Given the description of an element on the screen output the (x, y) to click on. 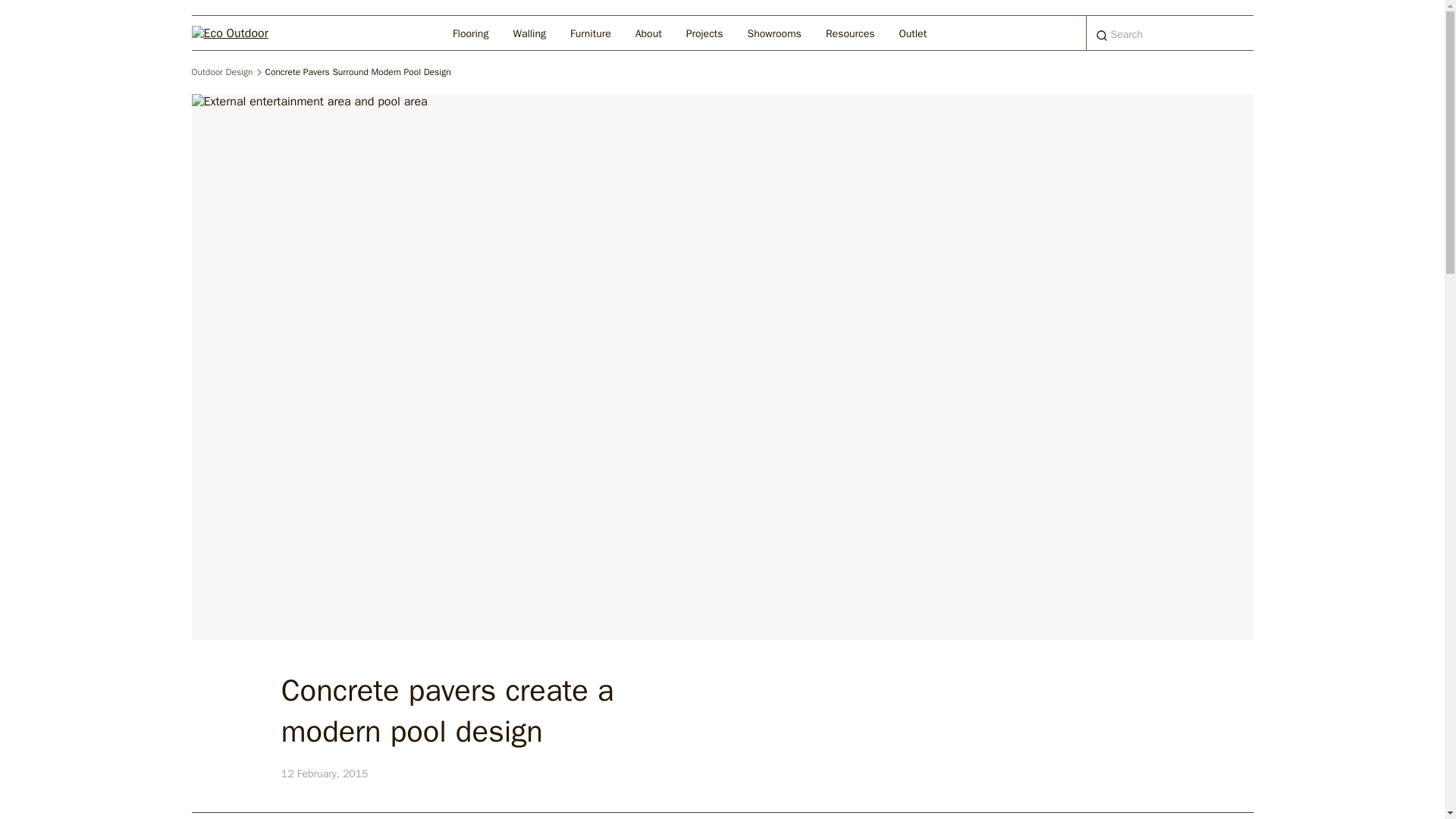
Flooring (470, 32)
Walling (528, 32)
Furniture (590, 32)
Eco Outdoor (242, 32)
Submit (1101, 37)
